Given the description of an element on the screen output the (x, y) to click on. 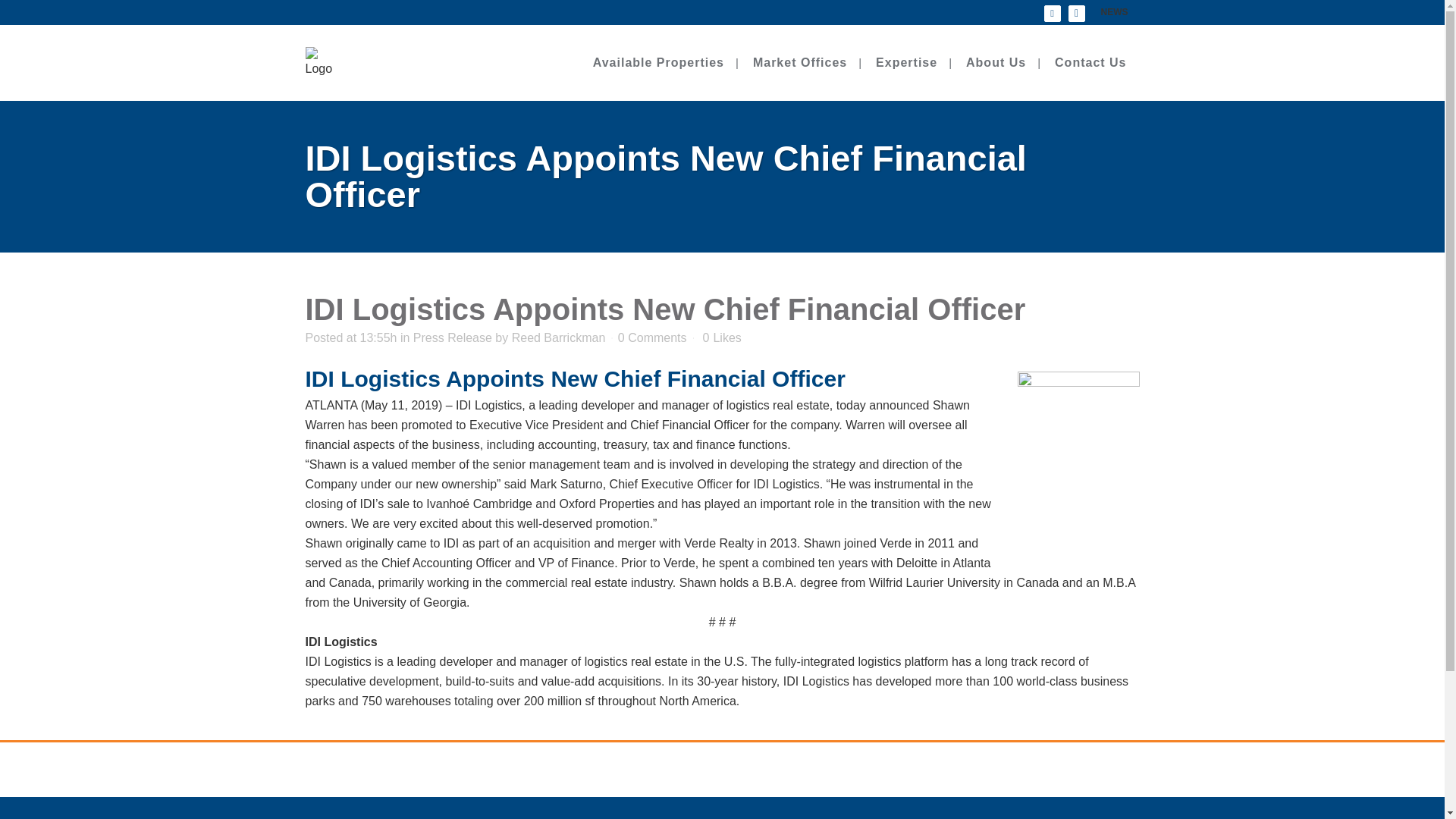
Contact Us (1090, 62)
Available Properties (657, 62)
About Us (996, 62)
NEWS (1107, 12)
Expertise (906, 62)
Market Offices (799, 62)
